Given the description of an element on the screen output the (x, y) to click on. 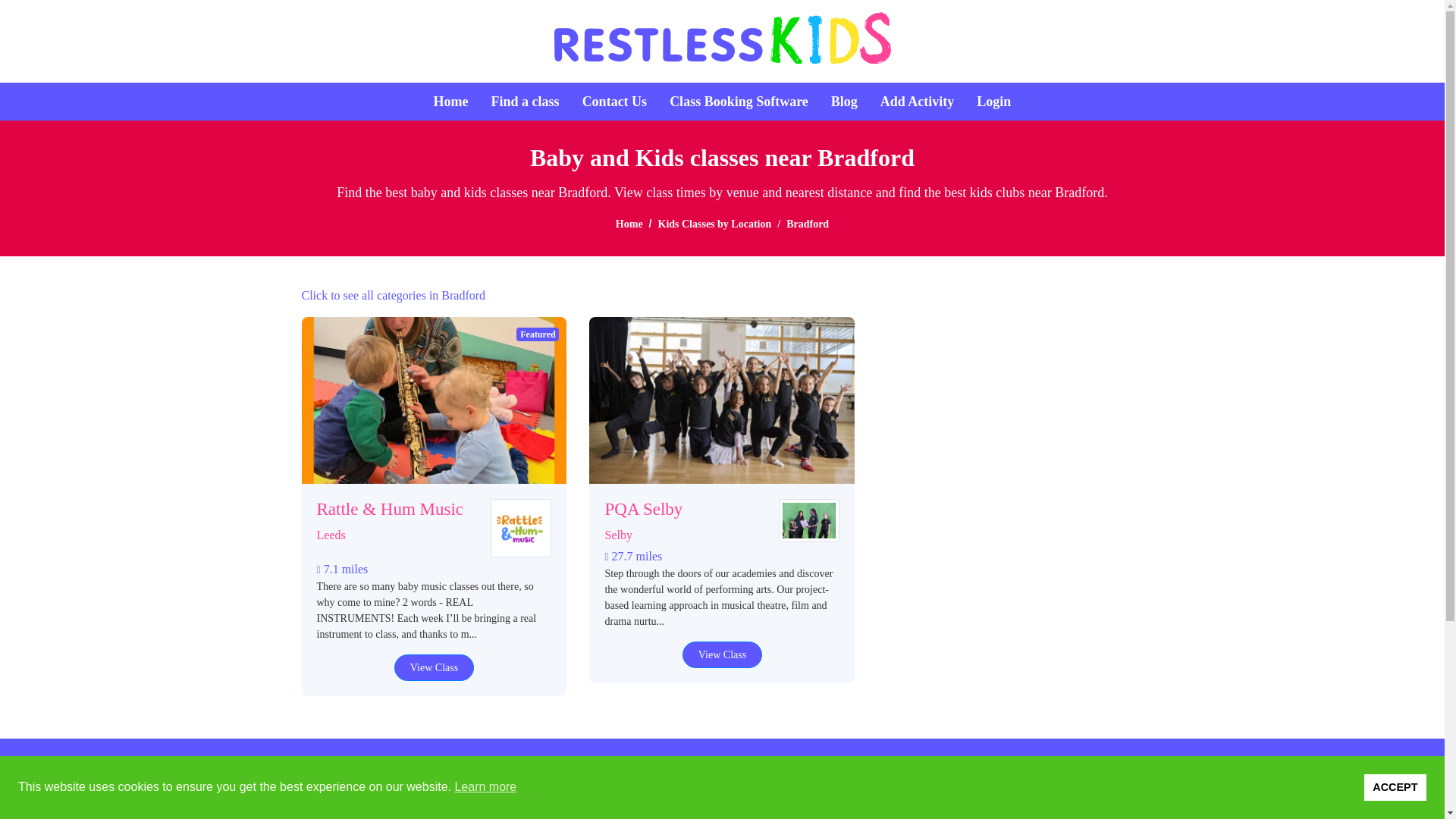
Home (629, 224)
Click to see all categories in Bradford (393, 295)
Login (993, 101)
View Class (721, 654)
Contact Us (614, 101)
Kids Classes by Location (714, 224)
Add Activity (917, 101)
Find a class (525, 101)
Home (450, 101)
ACCEPT (1395, 786)
Class Booking Software (738, 101)
Blog (844, 101)
View Class (434, 667)
